Given the description of an element on the screen output the (x, y) to click on. 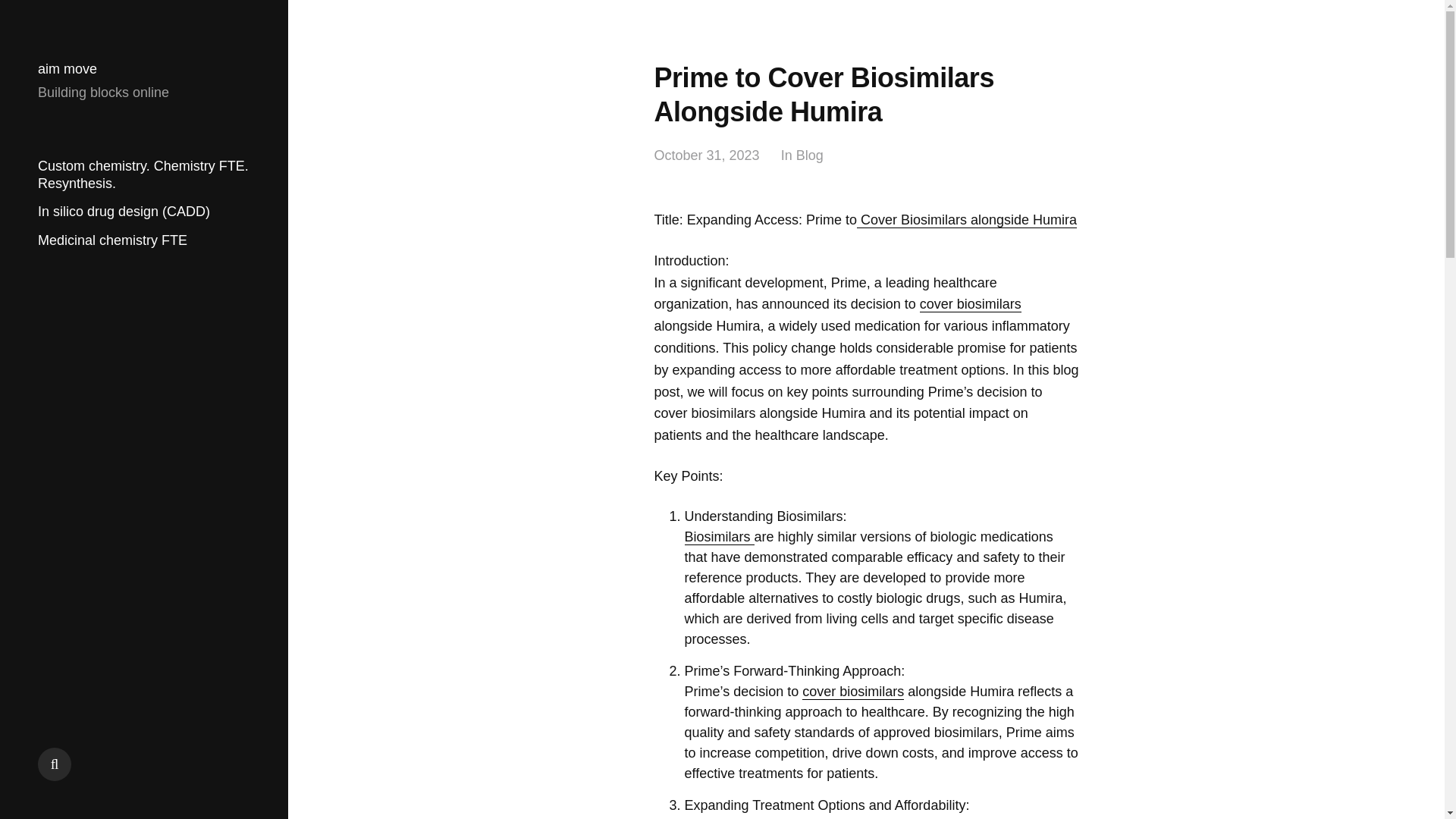
Medicinal chemistry FTE (112, 239)
cover biosimilars (853, 691)
aim move (67, 68)
Custom chemistry. Chemistry FTE. Resynthesis. (142, 174)
Blog (810, 155)
October 31, 2023 (705, 155)
Biosimilars (719, 537)
Cover Biosimilars alongside Humira (967, 220)
biosimilars (817, 818)
cover biosimilars (971, 304)
